Given the description of an element on the screen output the (x, y) to click on. 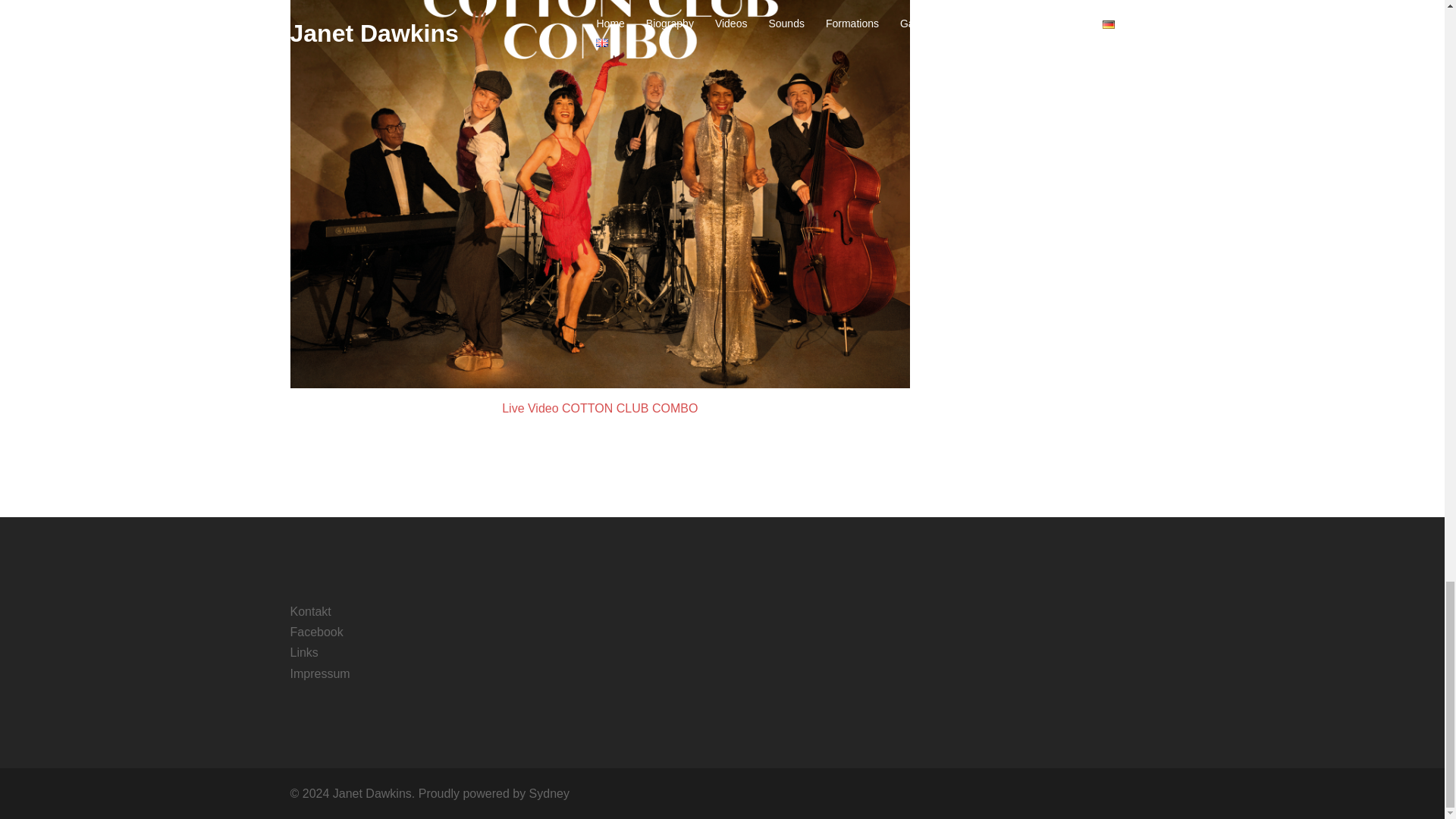
Facebook (315, 631)
Kontakt (309, 611)
Impressum (319, 673)
Live Video COTTON CLUB COMBO (599, 408)
Links (303, 652)
Sydney (549, 793)
